Given the description of an element on the screen output the (x, y) to click on. 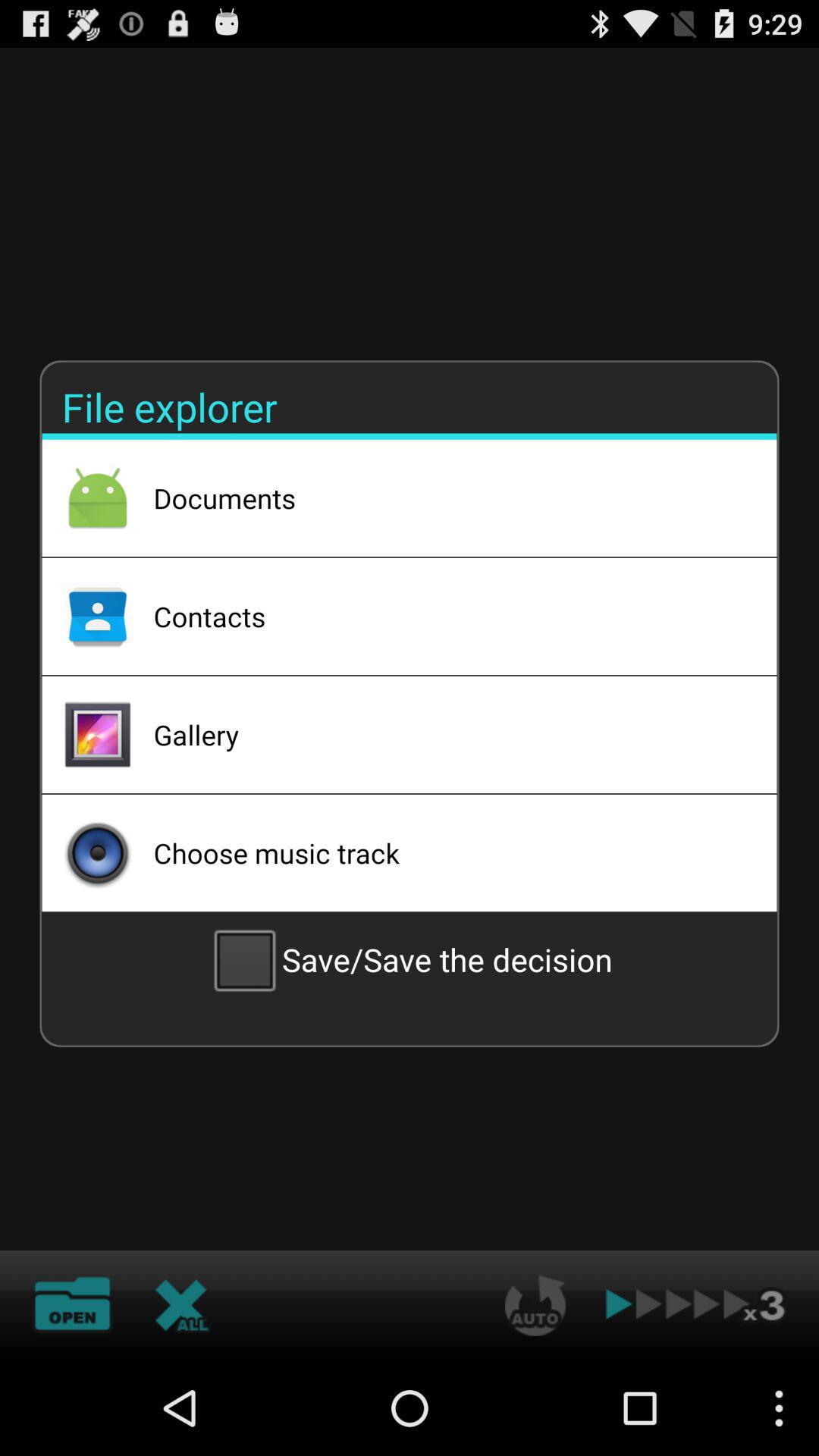
select the icon below the documents icon (445, 616)
